Given the description of an element on the screen output the (x, y) to click on. 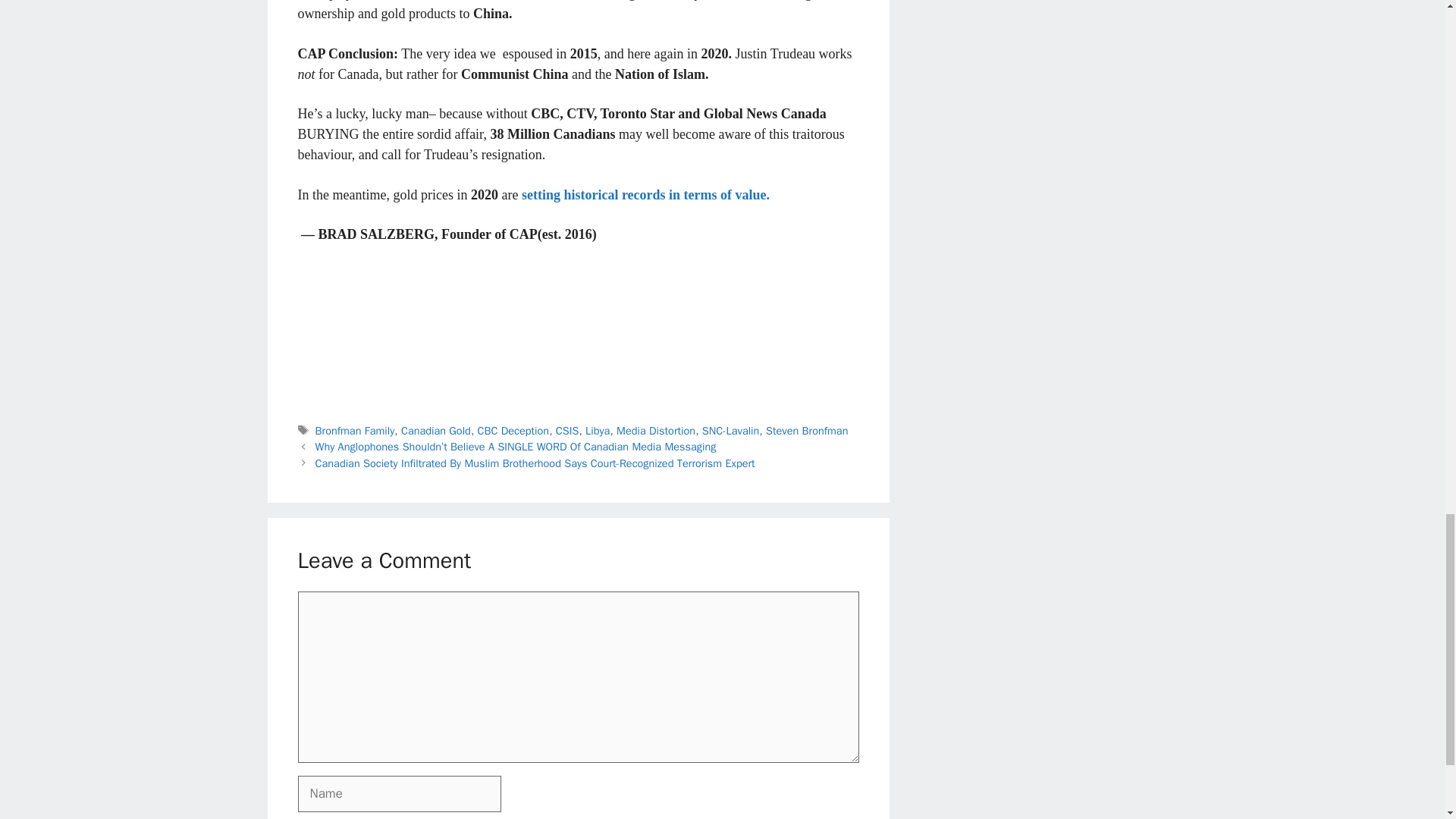
Media Distortion (655, 430)
setting historical records in terms of value.    (650, 194)
CBC Deception (513, 430)
Bronfman Family (354, 430)
SNC-Lavalin (730, 430)
CSIS (567, 430)
Libya (597, 430)
Canadian Gold (435, 430)
Steven Bronfman (806, 430)
